Given the description of an element on the screen output the (x, y) to click on. 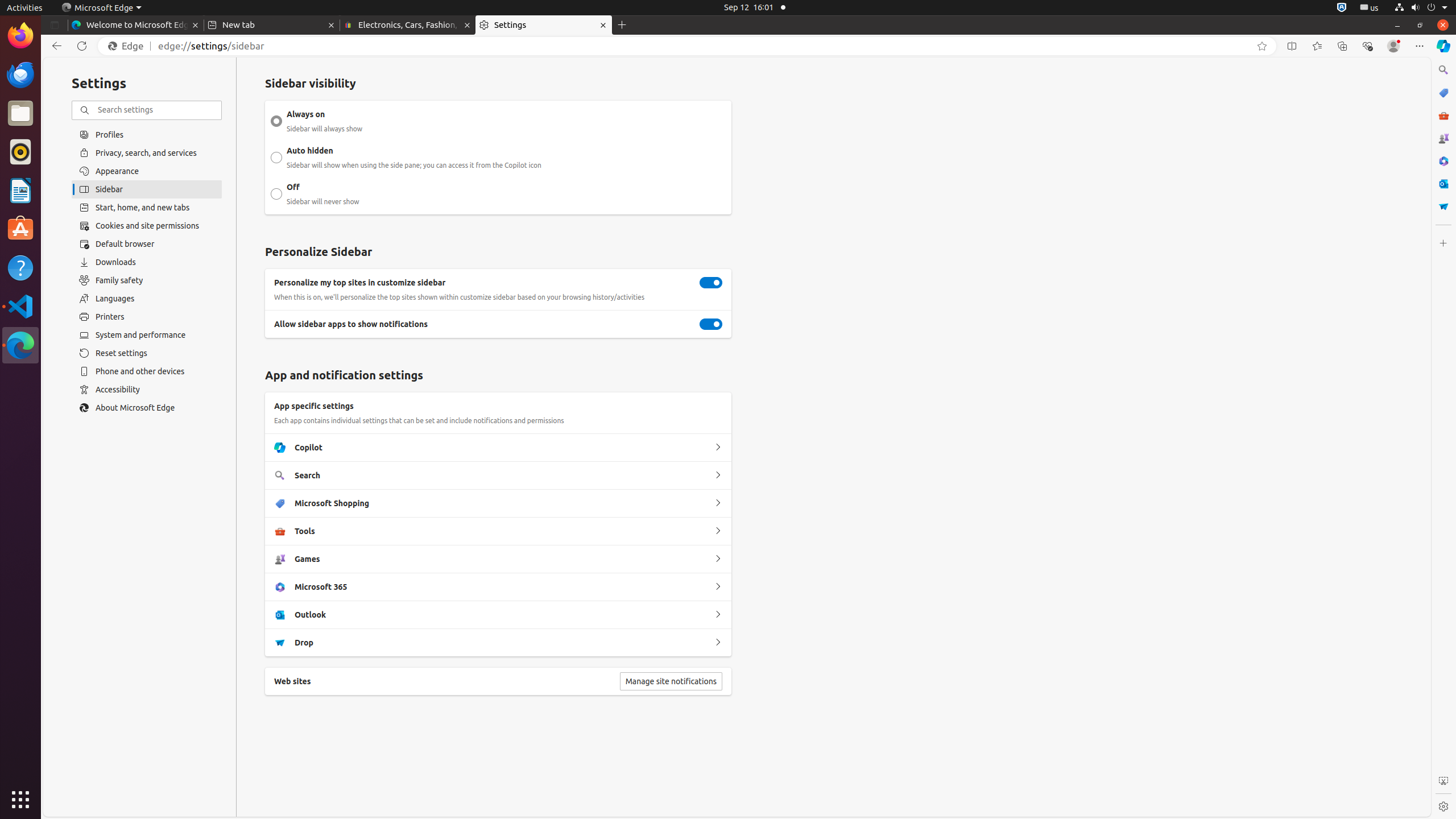
Default browser Element type: tree-item (146, 243)
System and performance Element type: tree-item (146, 334)
Sidebar Element type: tree-item (146, 189)
Cookies and site permissions Element type: tree-item (146, 225)
Settings Element type: page-tab (543, 25)
